Given the description of an element on the screen output the (x, y) to click on. 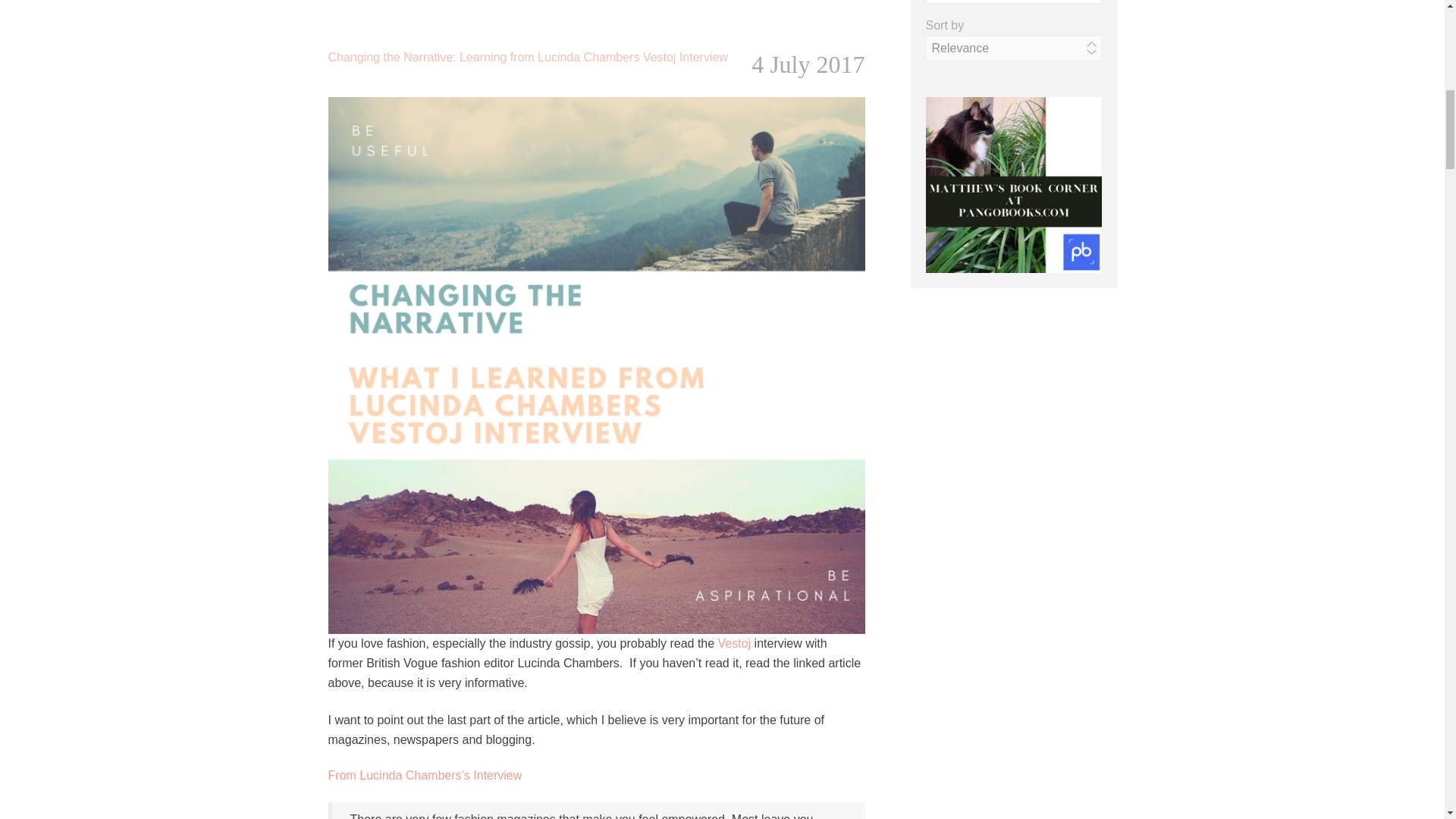
4 July 2017 (807, 63)
Vestoj  (735, 643)
